Given the description of an element on the screen output the (x, y) to click on. 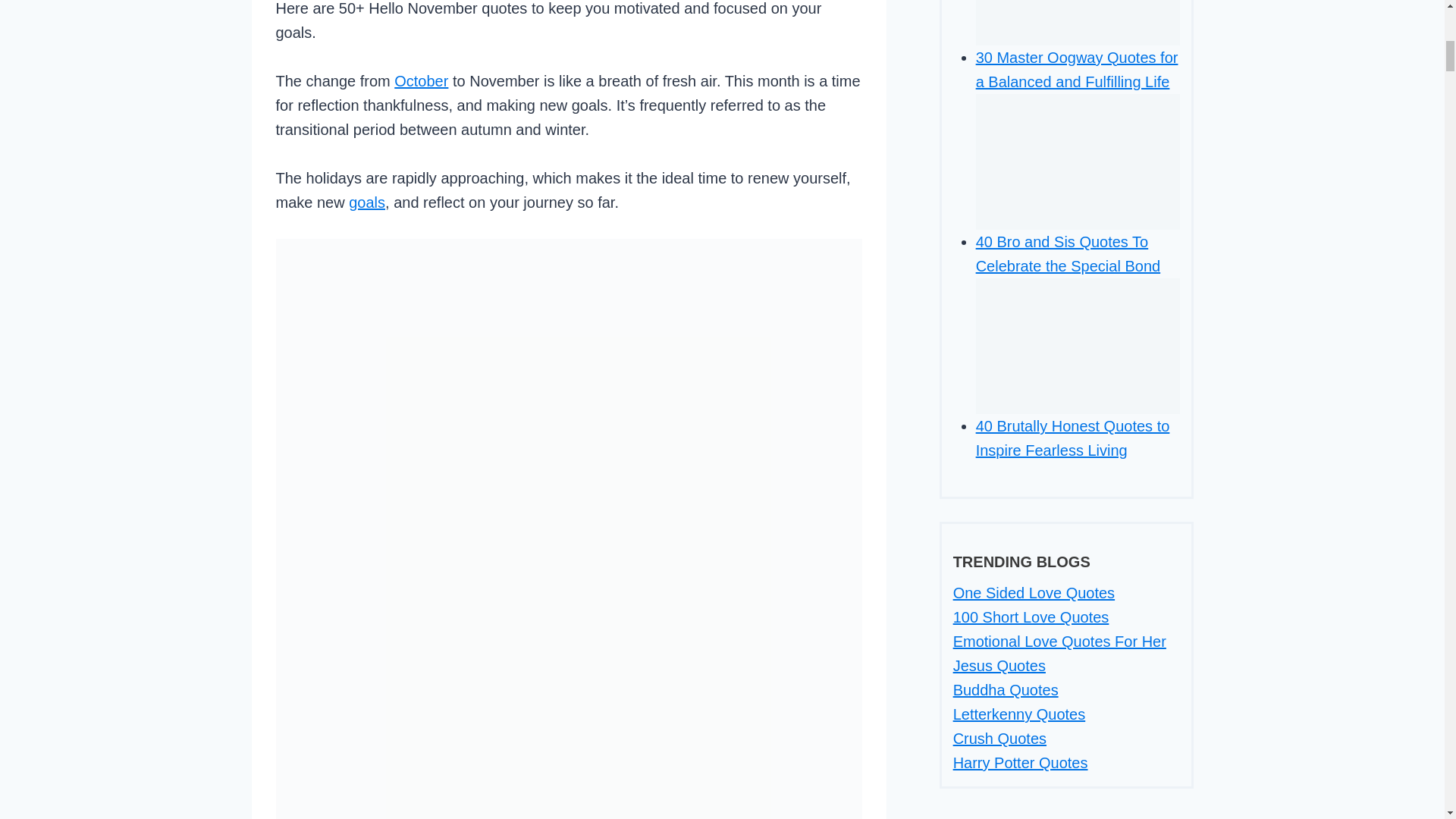
goals (367, 202)
October (421, 80)
